Given the description of an element on the screen output the (x, y) to click on. 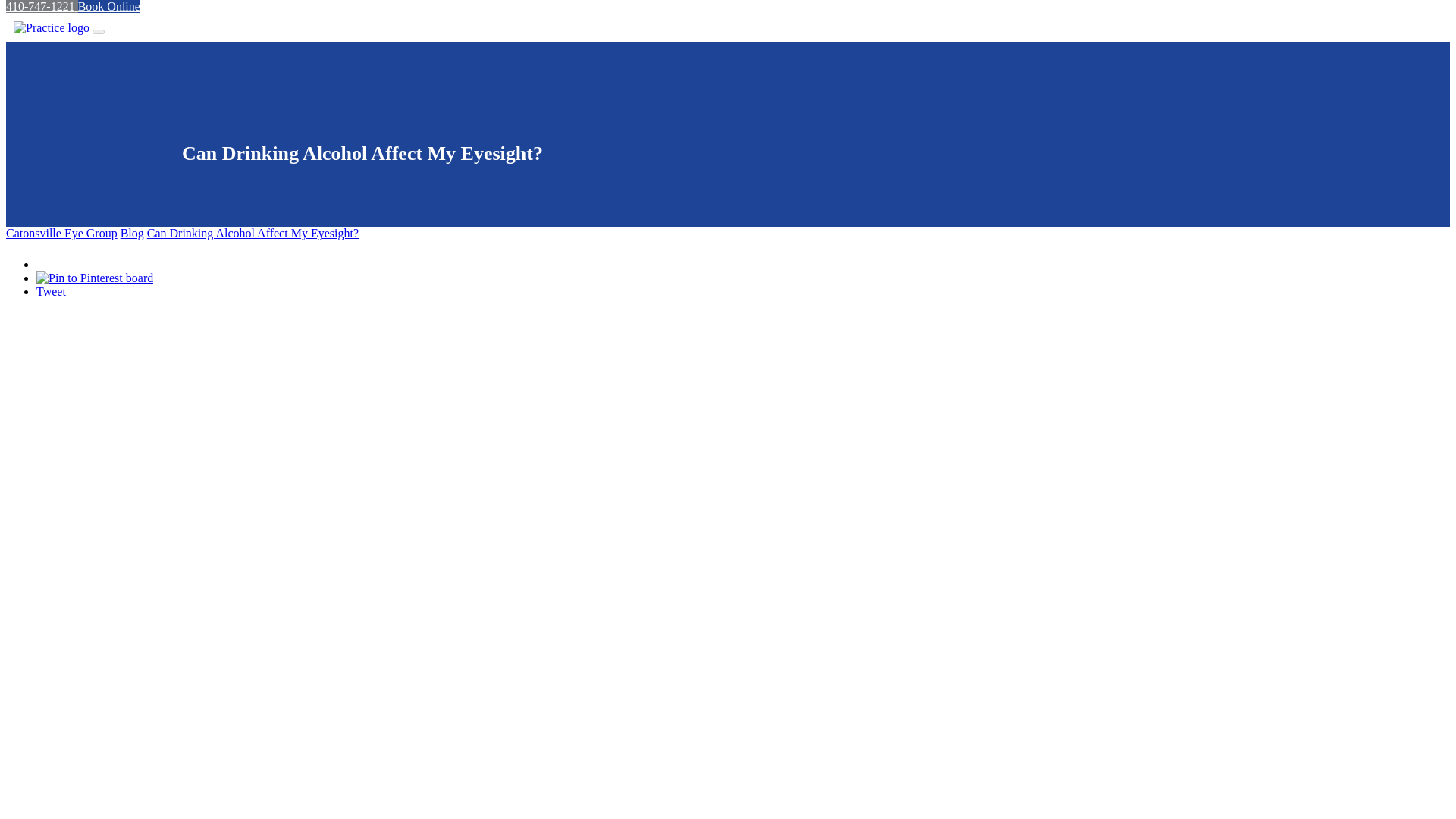
Book Online (108, 6)
410-747-1221 (41, 6)
Blog (132, 232)
Catonsville Eye Group (61, 232)
Tweet (50, 291)
Can Drinking Alcohol Affect My Eyesight? (252, 232)
Facebook social button (89, 260)
